Given the description of an element on the screen output the (x, y) to click on. 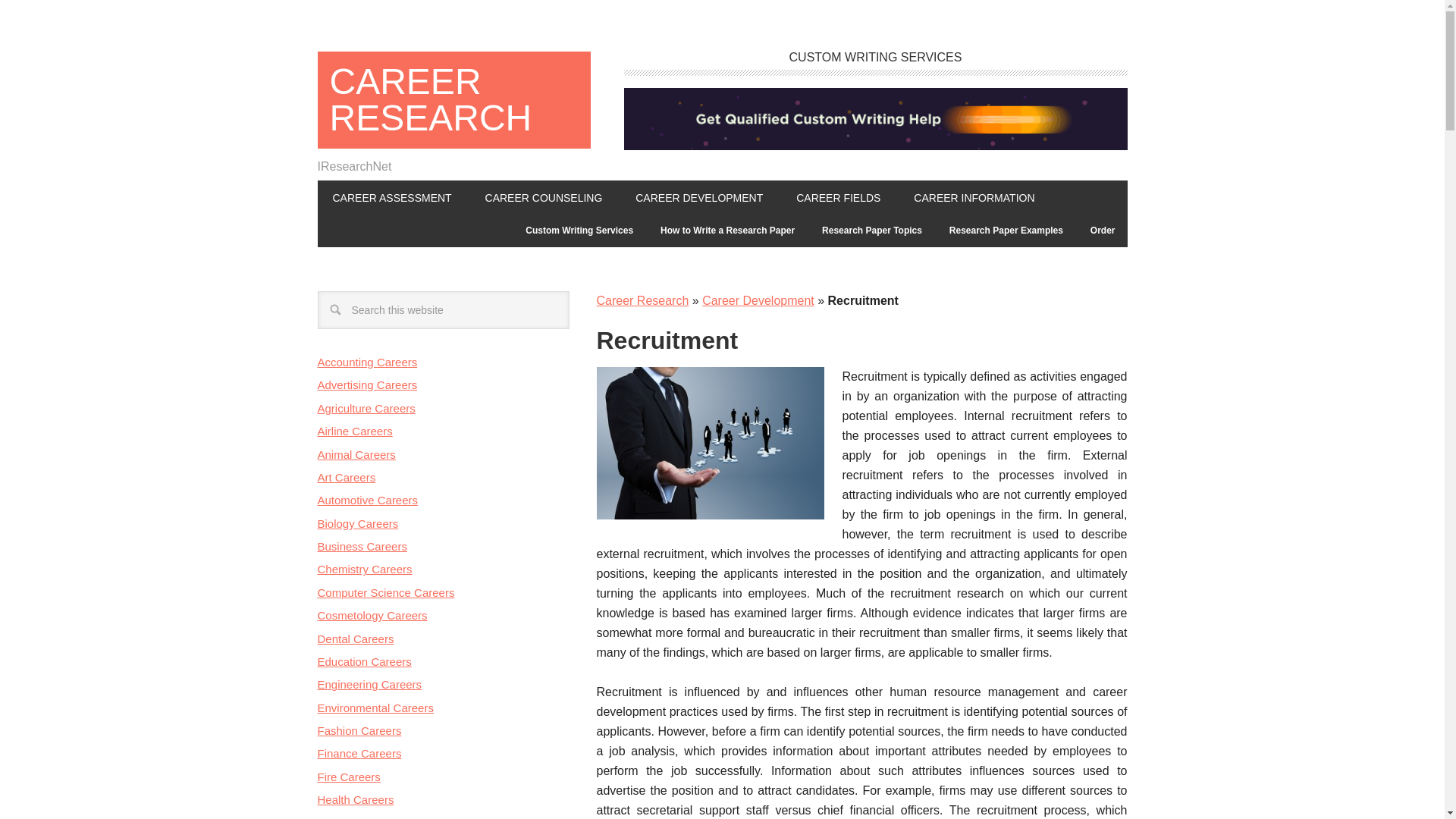
Research Paper Topics (871, 230)
Airline Careers (354, 431)
How to Write a Research Paper (726, 230)
Advertising Careers (366, 384)
CAREER INFORMATION (973, 196)
Agriculture Careers (365, 408)
CAREER ASSESSMENT (391, 196)
Business Careers (361, 545)
Computer Science Careers (385, 592)
Custom Writing Services (579, 230)
Chemistry Careers (364, 568)
CAREER FIELDS (837, 196)
CAREER COUNSELING (543, 196)
